Given the description of an element on the screen output the (x, y) to click on. 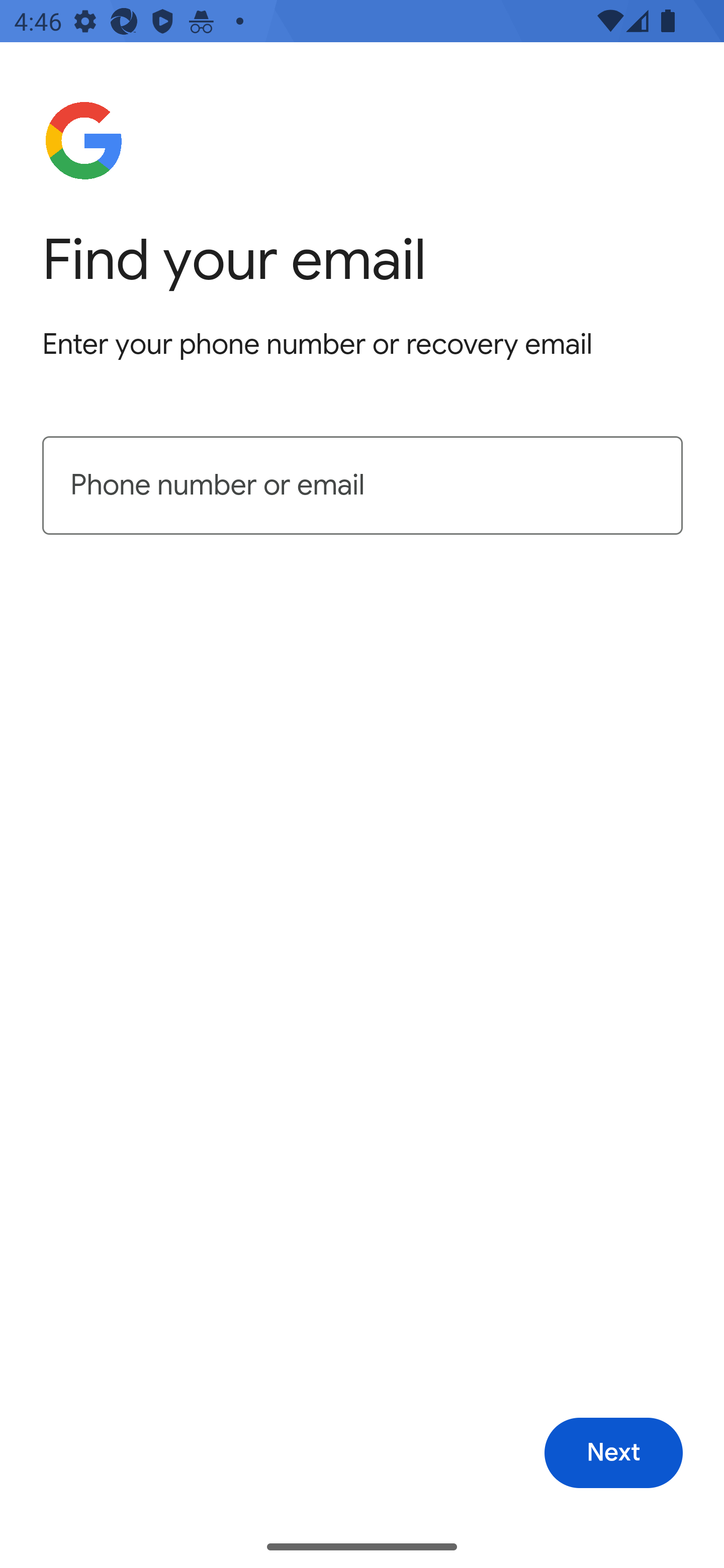
Next (613, 1453)
